Given the description of an element on the screen output the (x, y) to click on. 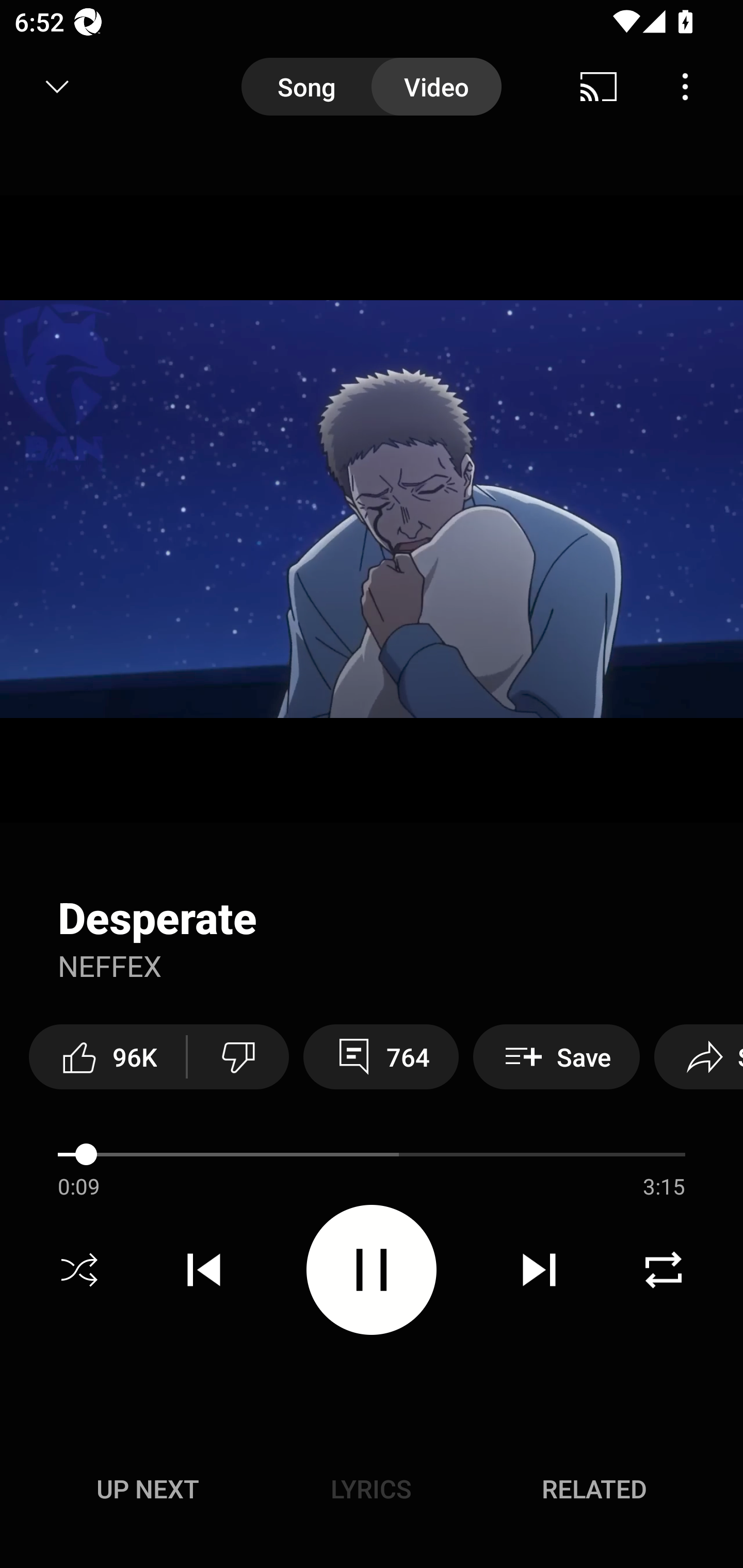
Minimize (57, 86)
Cast. Disconnected (598, 86)
Menu (684, 86)
96K like this video along with 96,235 other people (106, 1056)
Dislike (238, 1056)
764 View 764 comments (380, 1056)
Save Save to playlist (556, 1056)
Share (698, 1056)
Pause video (371, 1269)
Shuffle off (79, 1269)
Previous track (203, 1269)
Next track (538, 1269)
Repeat on (663, 1269)
Up next UP NEXT Lyrics LYRICS Related RELATED (371, 1491)
Lyrics LYRICS (370, 1488)
Related RELATED (594, 1488)
